Given the description of an element on the screen output the (x, y) to click on. 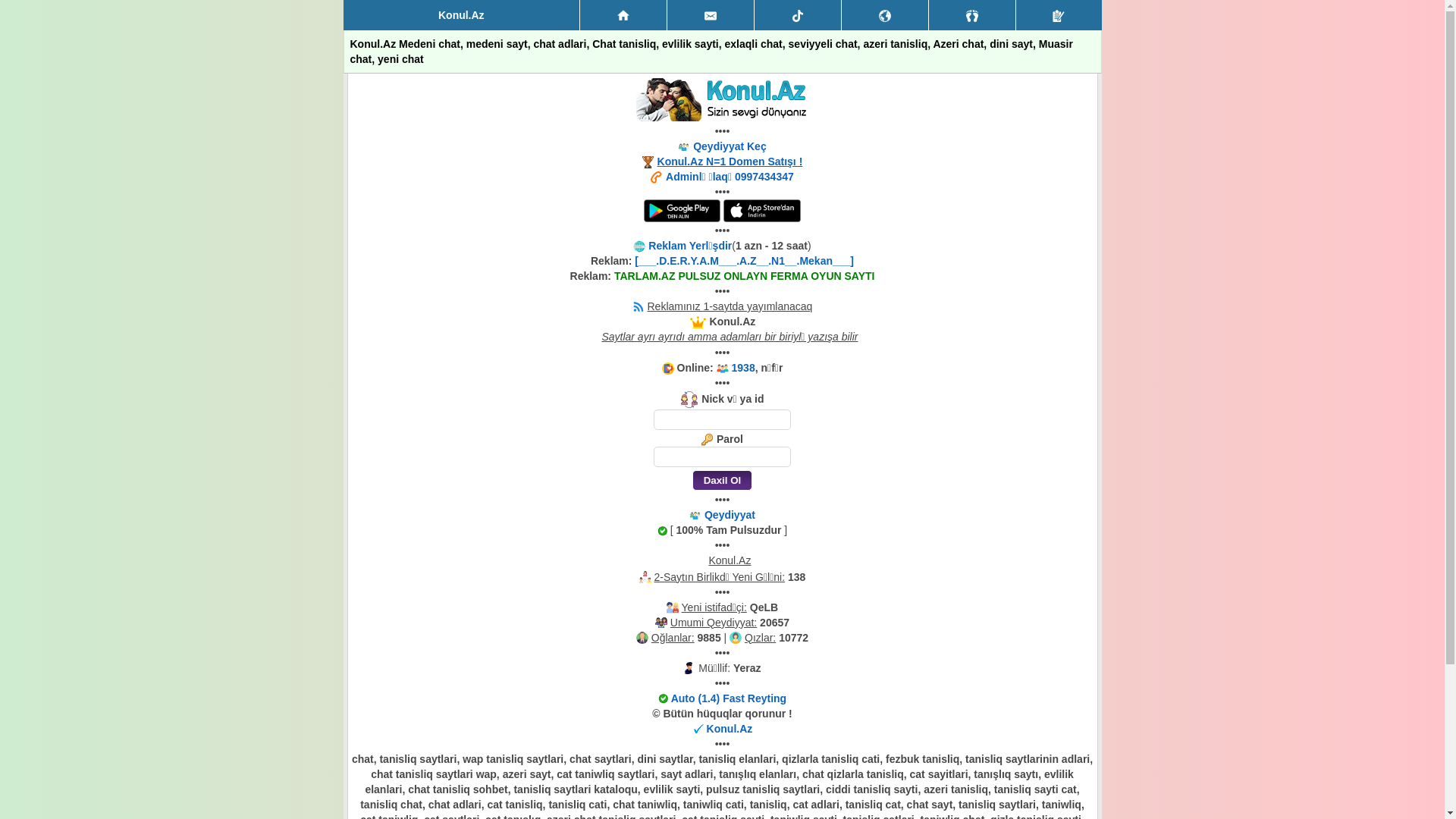
Qonaqlar Element type: hover (971, 15)
Qeydiyyat Element type: text (729, 514)
Daxil Ol Element type: text (721, 480)
TARLAM.AZ PULSUZ ONLAYN FERMA OYUN SAYTI Element type: text (744, 275)
Konul.Az Element type: text (729, 728)
1938 Element type: text (743, 367)
Parol Element type: hover (721, 456)
Mesajlar Element type: hover (710, 15)
Qeydiyyat Element type: hover (1058, 15)
[___.D.E.R.Y.A.M___.A.Z__.N1__.Mekan___] Element type: text (743, 260)
Auto (1.4) Fast Reyting Element type: text (728, 698)
Tiktok Element type: hover (797, 15)
Bildirisler Element type: hover (884, 15)
nick Element type: hover (721, 419)
